Given the description of an element on the screen output the (x, y) to click on. 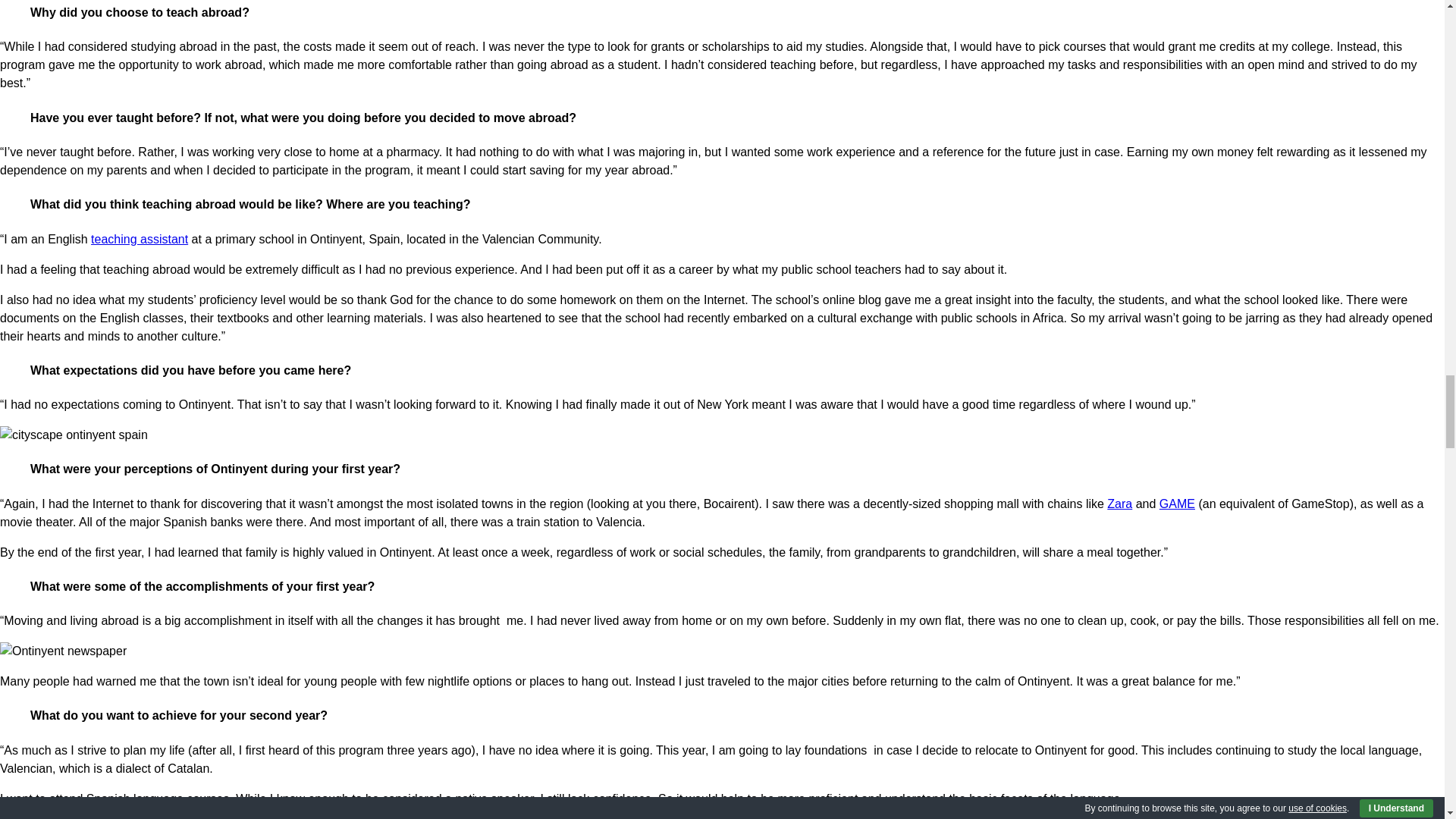
Zara (1119, 503)
GAME (1176, 503)
Ontinyent newspaper (63, 651)
teaching assistant (138, 238)
cityscape ontinyent spain (74, 434)
